Given the description of an element on the screen output the (x, y) to click on. 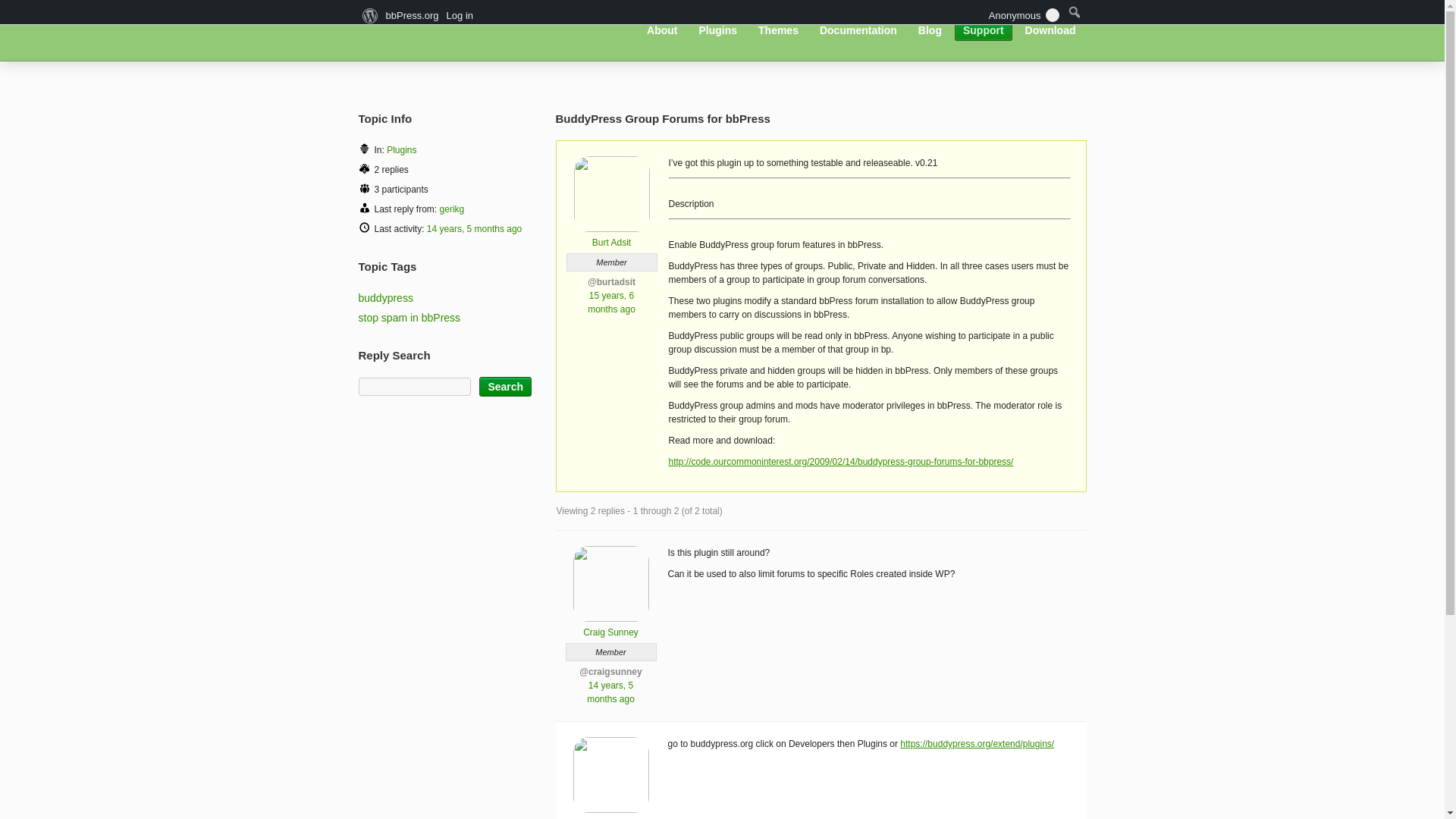
14 years, 5 months ago (610, 692)
buddypress (385, 297)
14 years, 5 months ago (473, 228)
Documentation (857, 29)
Support (983, 29)
Plugins (401, 149)
Themes (777, 29)
gerikg (451, 208)
Blog (930, 29)
Search (505, 386)
